Given the description of an element on the screen output the (x, y) to click on. 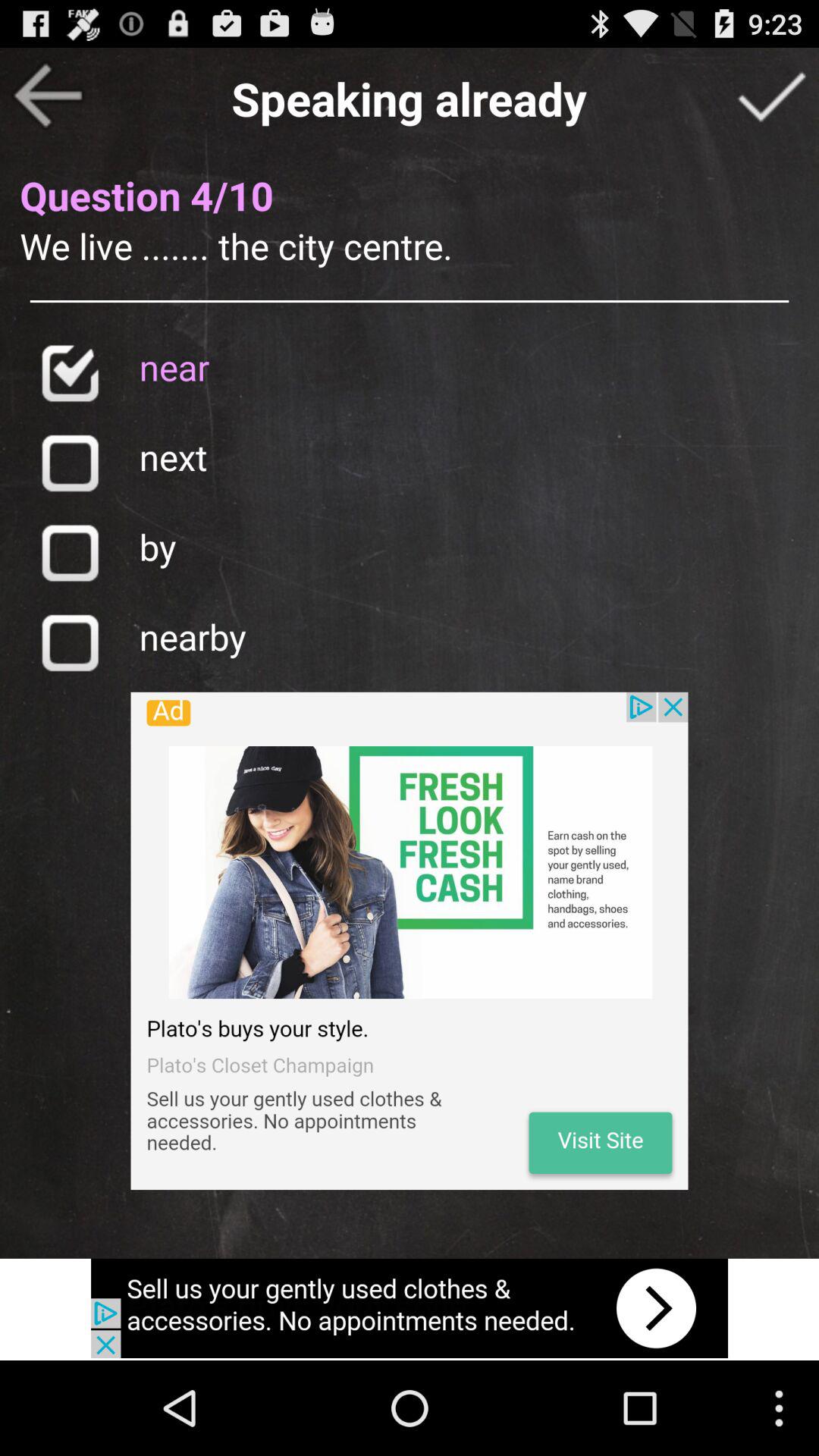
uncheck near (69, 372)
